Given the description of an element on the screen output the (x, y) to click on. 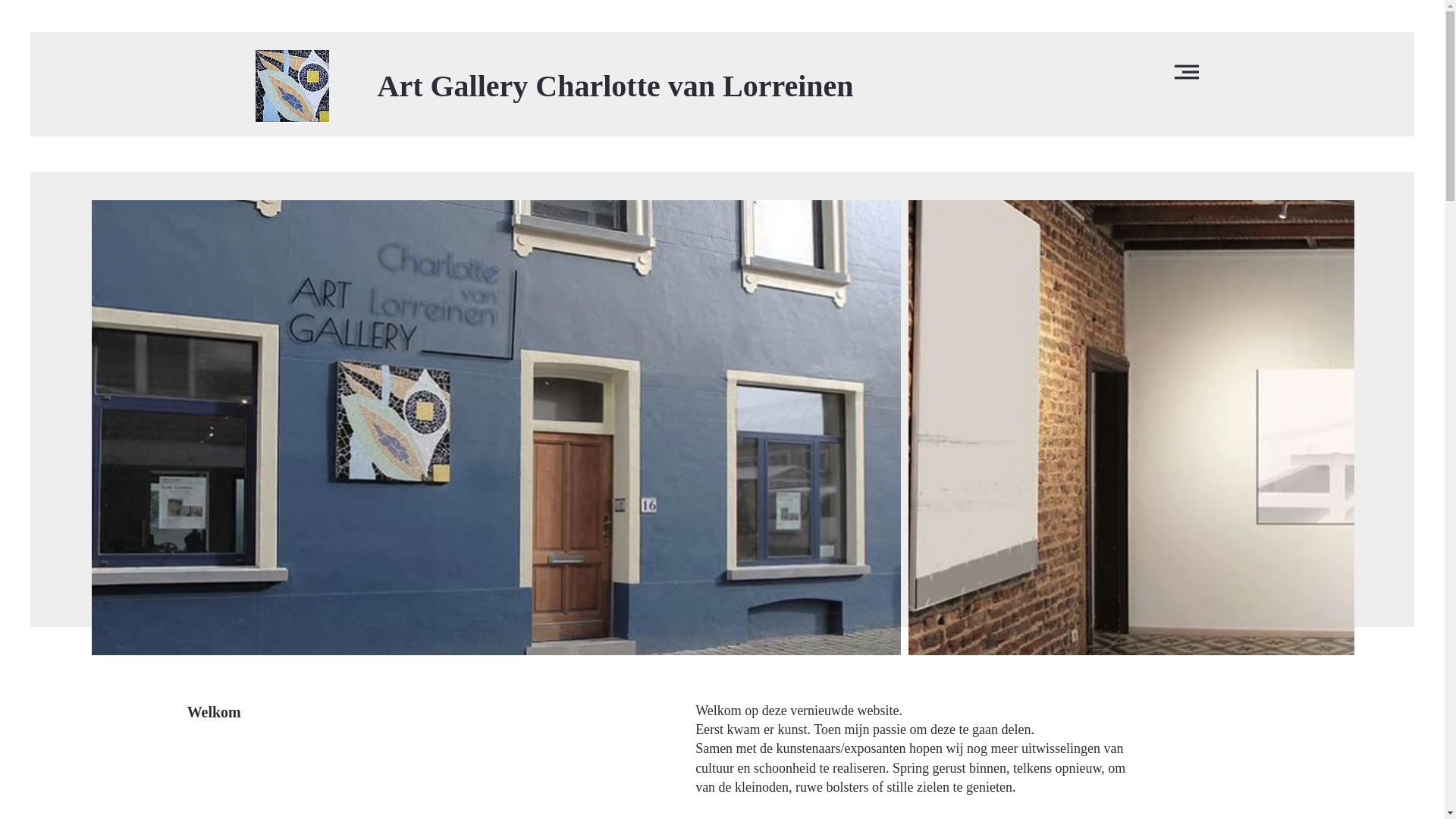
G A L L E R Y Element type: text (290, 95)
Art Element type: text (287, 77)
